Given the description of an element on the screen output the (x, y) to click on. 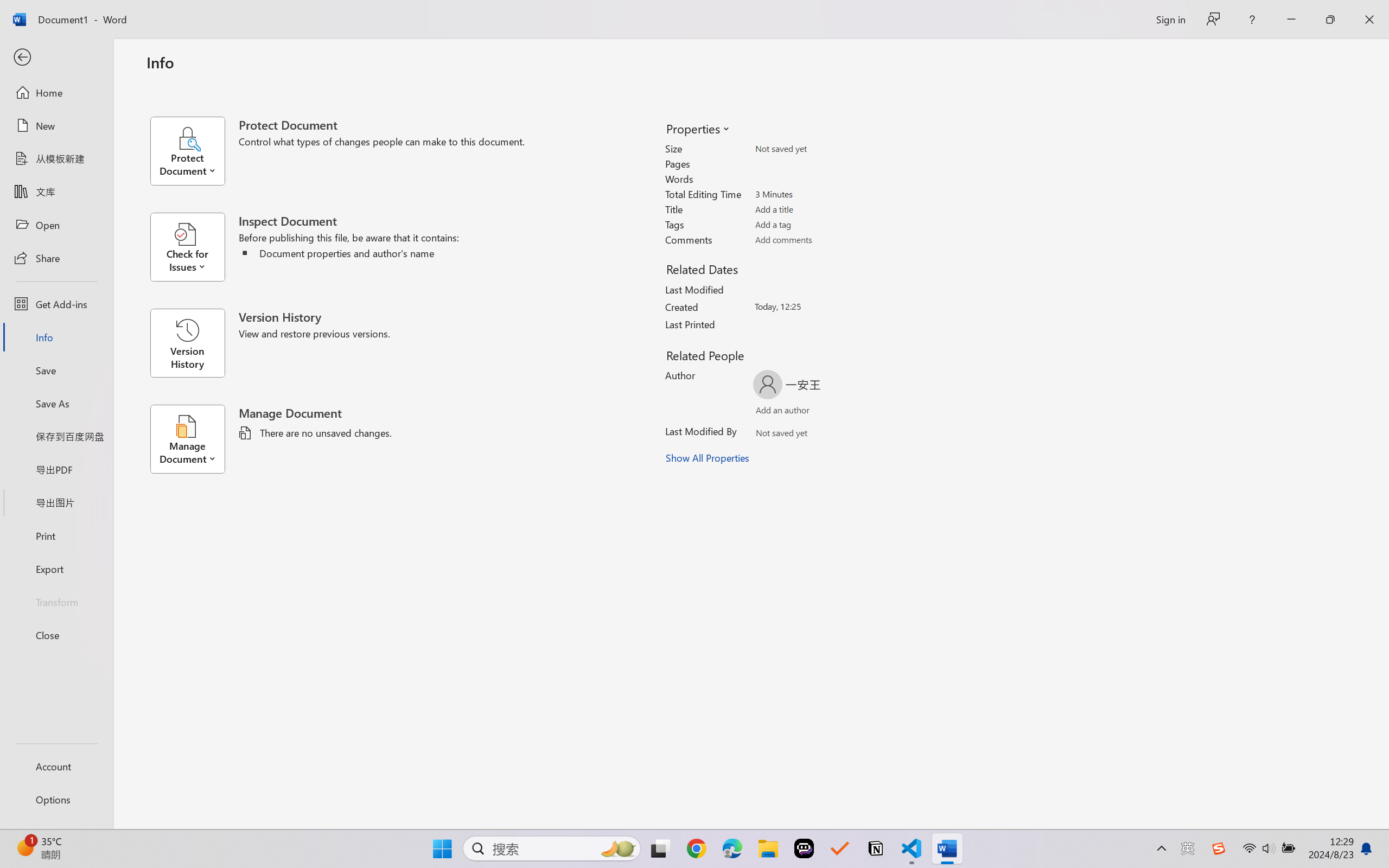
Check for Issues (194, 246)
Get Add-ins (56, 303)
Options (56, 798)
Words (818, 178)
Browse Address Book (852, 435)
Print (56, 535)
Manage Document (194, 438)
Show All Properties (707, 457)
